Given the description of an element on the screen output the (x, y) to click on. 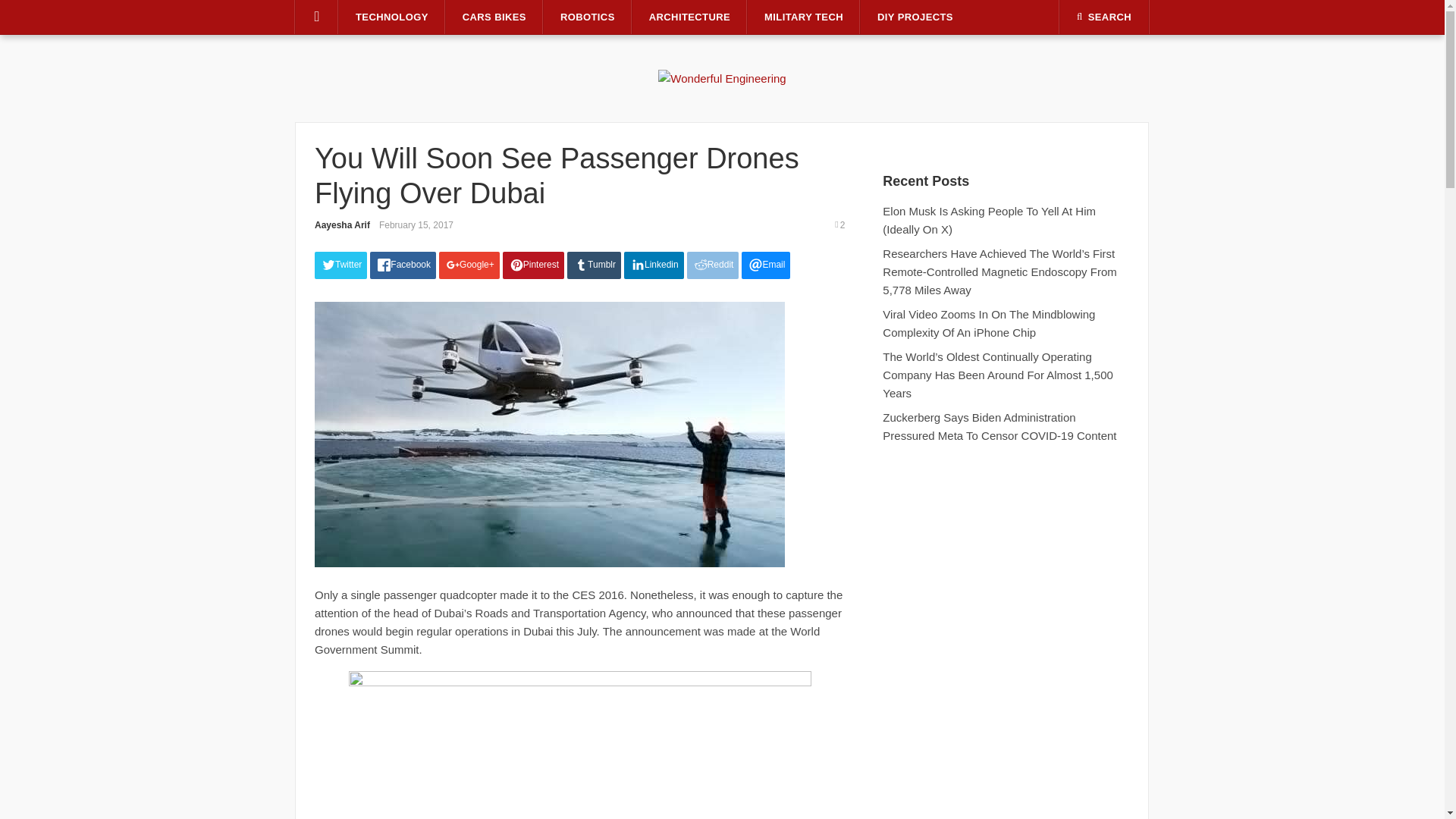
CARS BIKES (494, 17)
ROBOTICS (587, 17)
SEARCH (1104, 16)
Aayesha Arif (341, 225)
Wonderful Engineering (722, 77)
Twitter (340, 265)
Pinterest (533, 265)
Facebook (402, 265)
Email (765, 265)
ARCHITECTURE (688, 17)
